Given the description of an element on the screen output the (x, y) to click on. 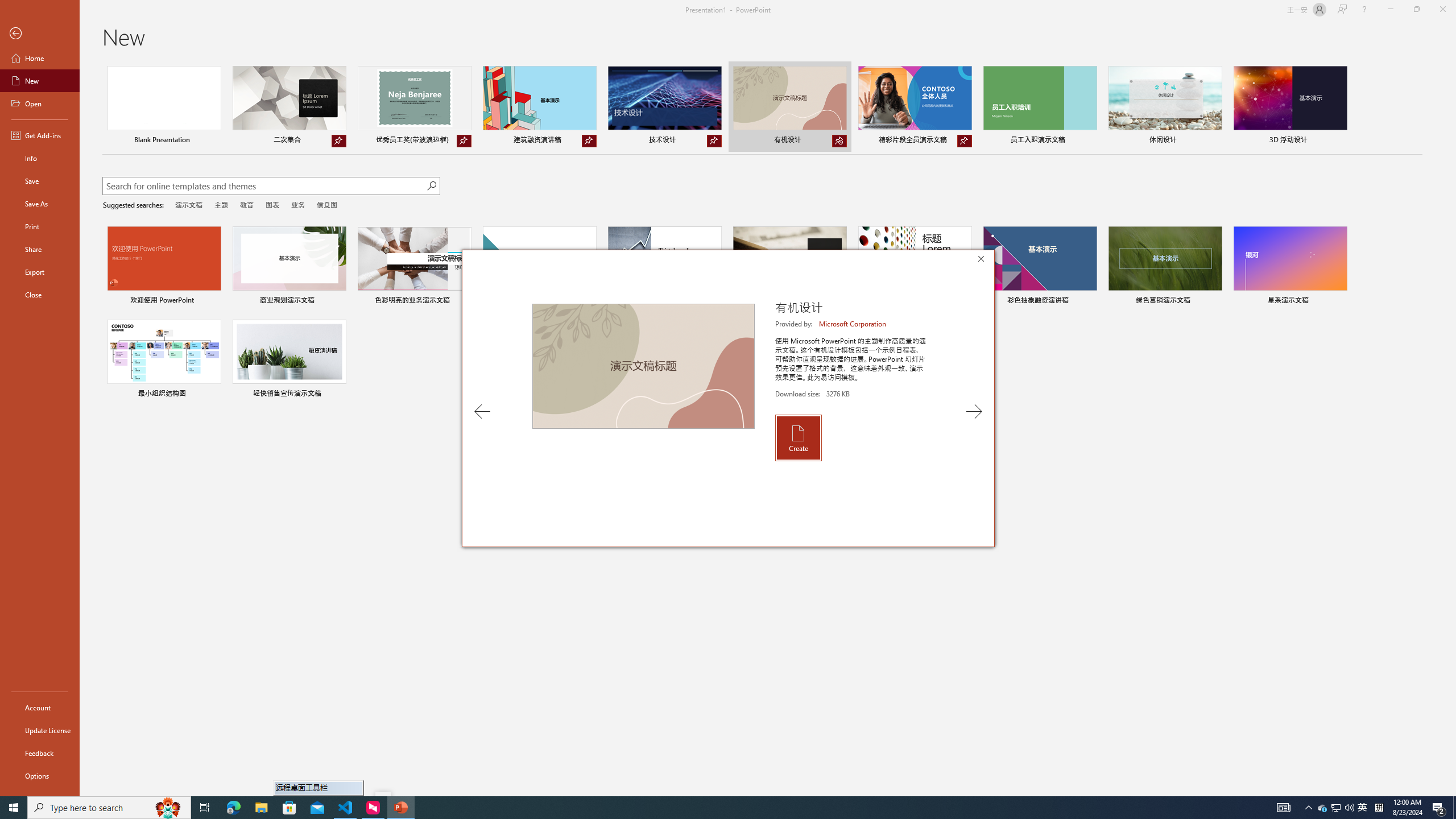
Save As (40, 203)
Next Template (974, 411)
Export (40, 271)
Options (40, 775)
Search for online templates and themes (264, 187)
Start searching (431, 185)
Feedback (40, 753)
